Given the description of an element on the screen output the (x, y) to click on. 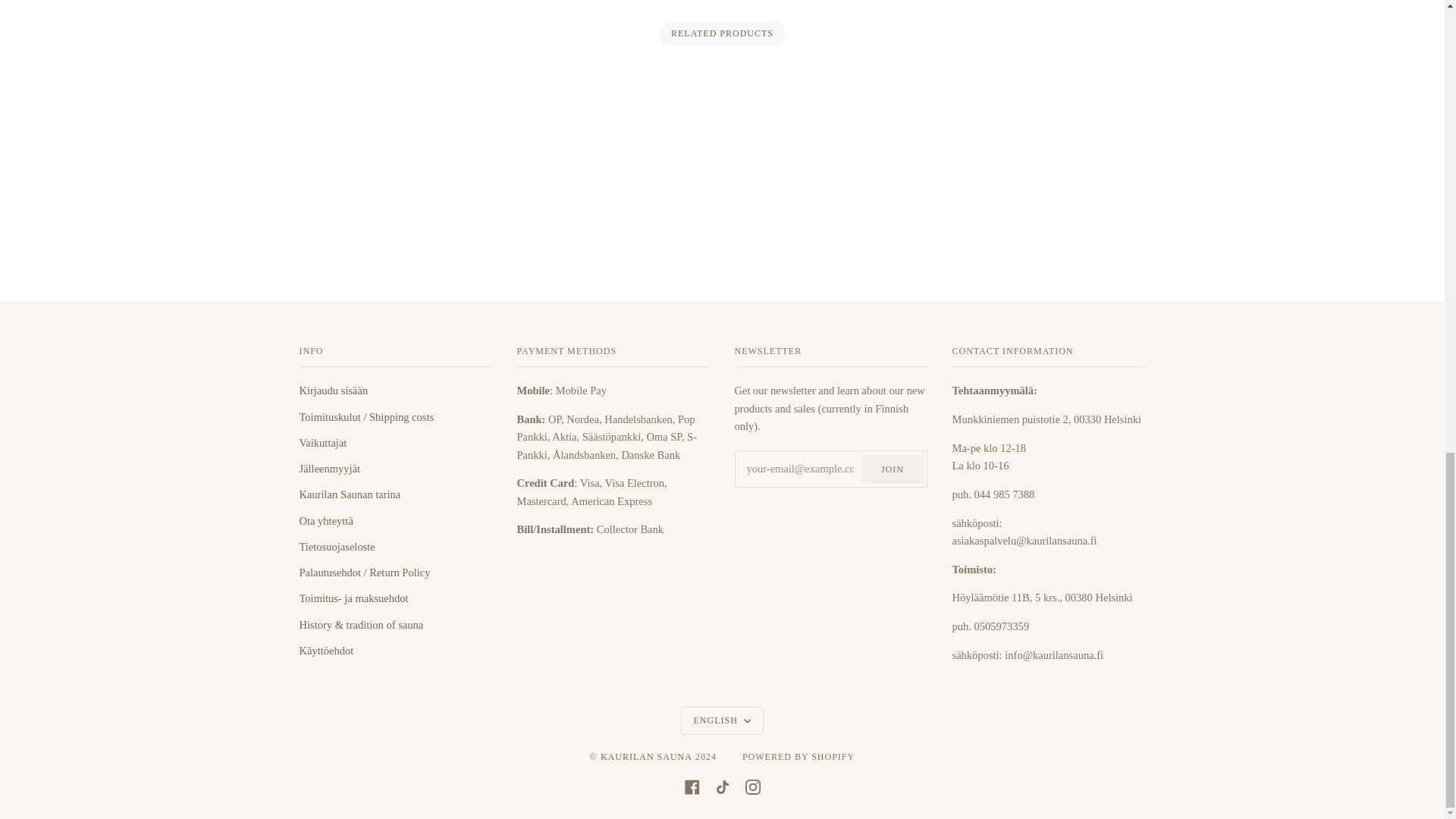
Tiktok (721, 786)
RELATED PRODUCTS (722, 33)
Facebook (691, 786)
RELATED PRODUCTS (721, 33)
Instagram (752, 786)
